Given the description of an element on the screen output the (x, y) to click on. 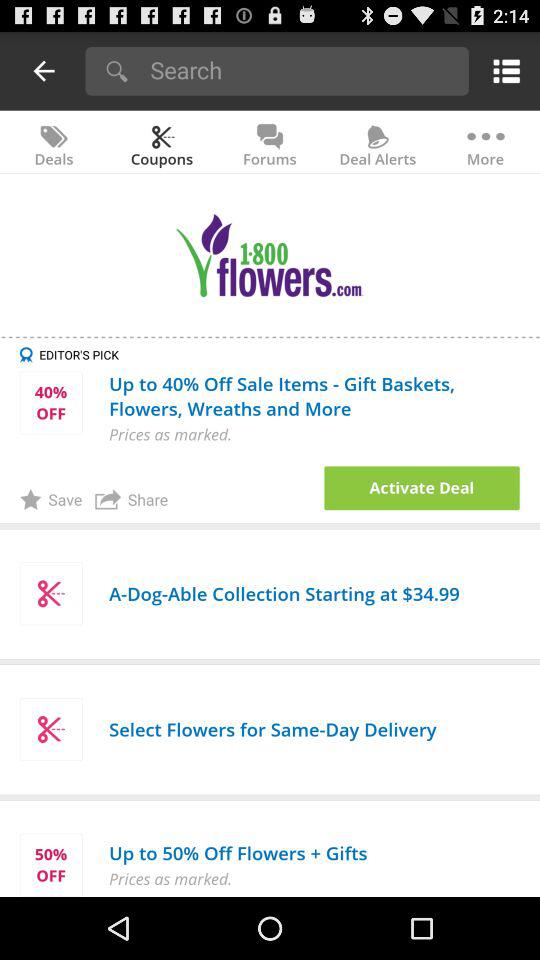
menu button (502, 70)
